Given the description of an element on the screen output the (x, y) to click on. 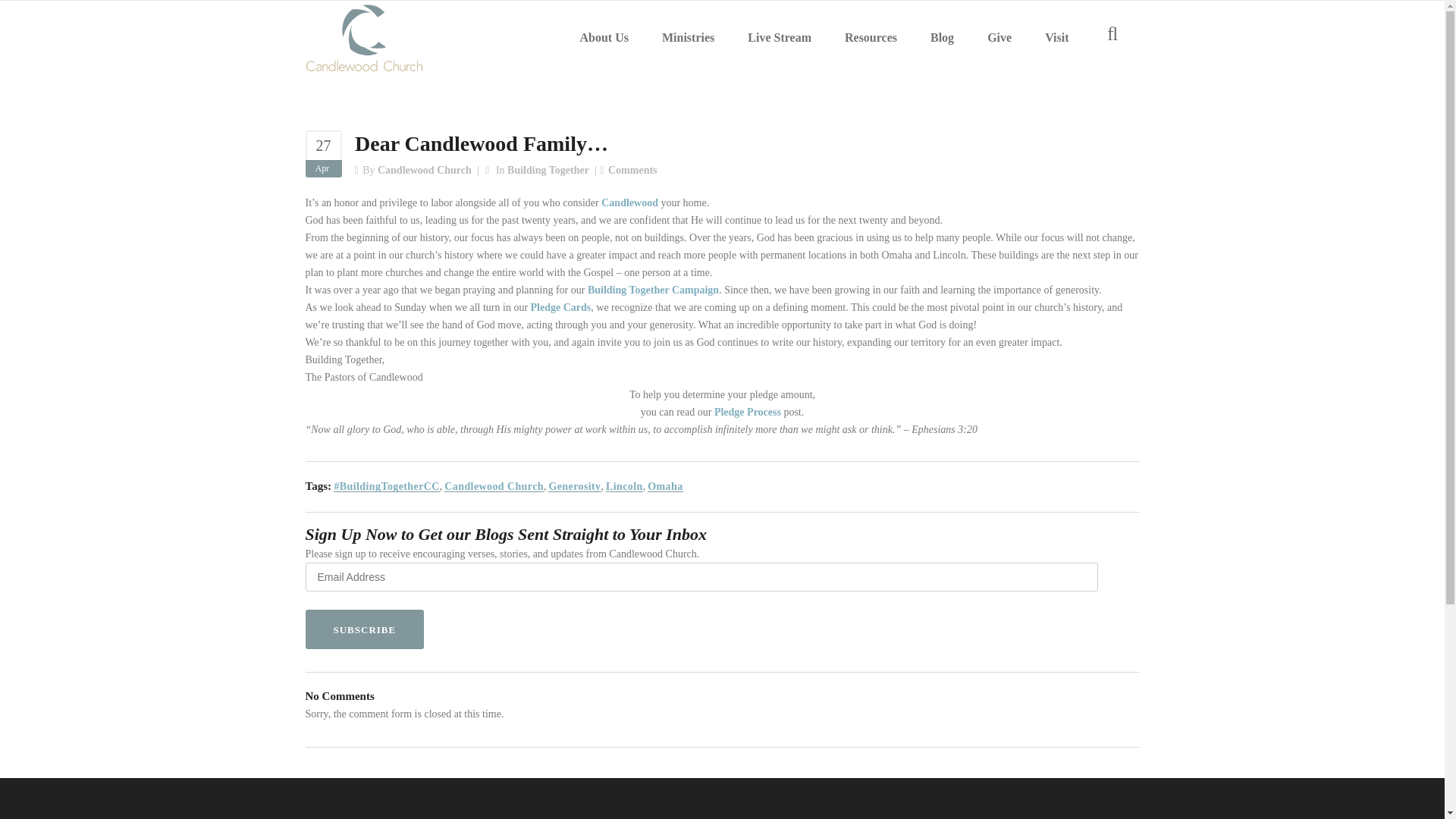
About Us (603, 38)
Resources (870, 38)
Ministries (687, 38)
Live Stream (779, 38)
